Given the description of an element on the screen output the (x, y) to click on. 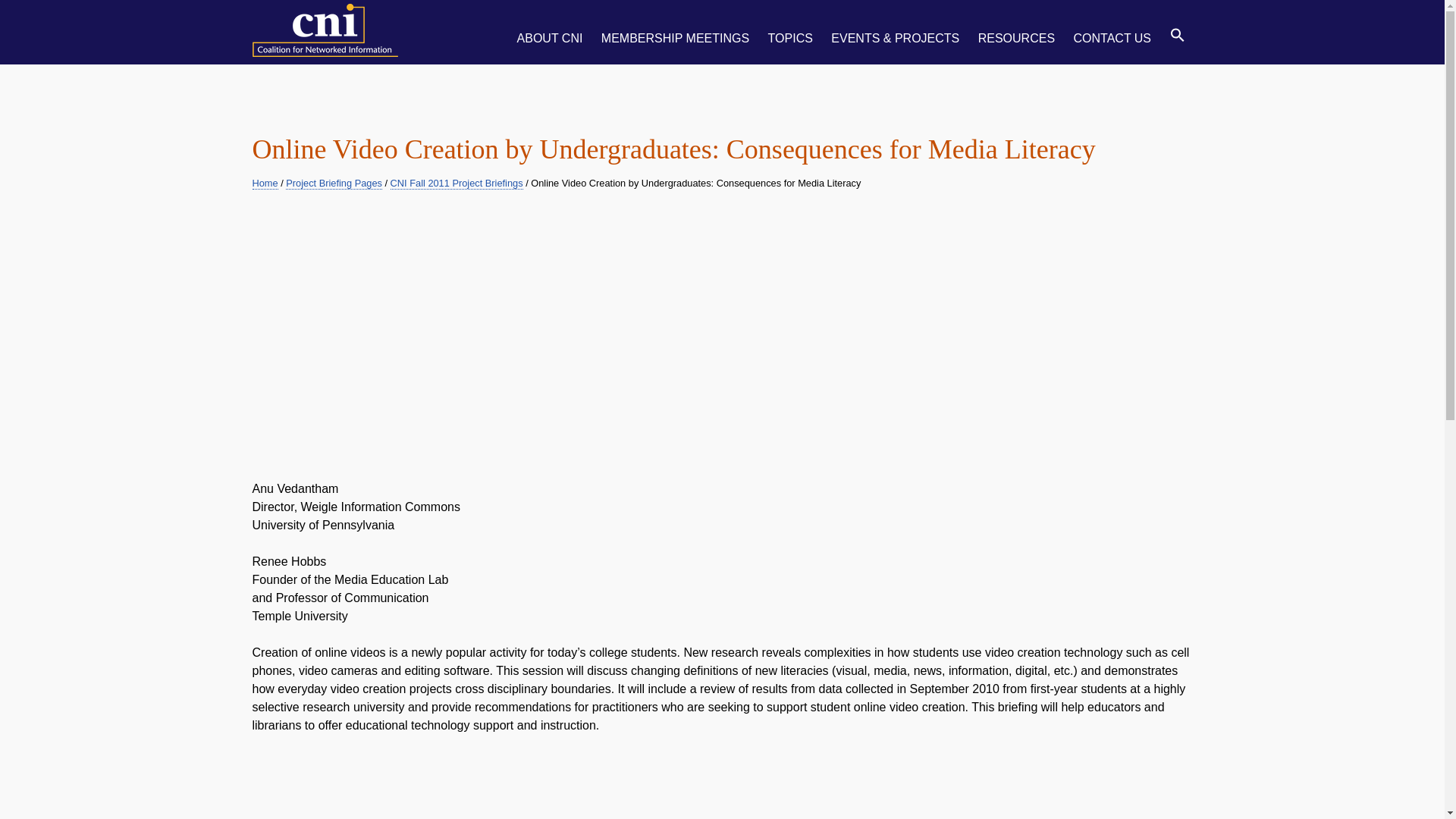
CNI: COALITION FOR NETWORKED INFORMATION (327, 34)
TOPICS (790, 28)
MEMBERSHIP MEETINGS (675, 28)
Home (264, 183)
CNI Fall 2011 Project Briefings (456, 183)
CONTACT US (1111, 28)
RESOURCES (1016, 28)
Project Briefing Pages (333, 183)
ABOUT CNI (550, 28)
